Given the description of an element on the screen output the (x, y) to click on. 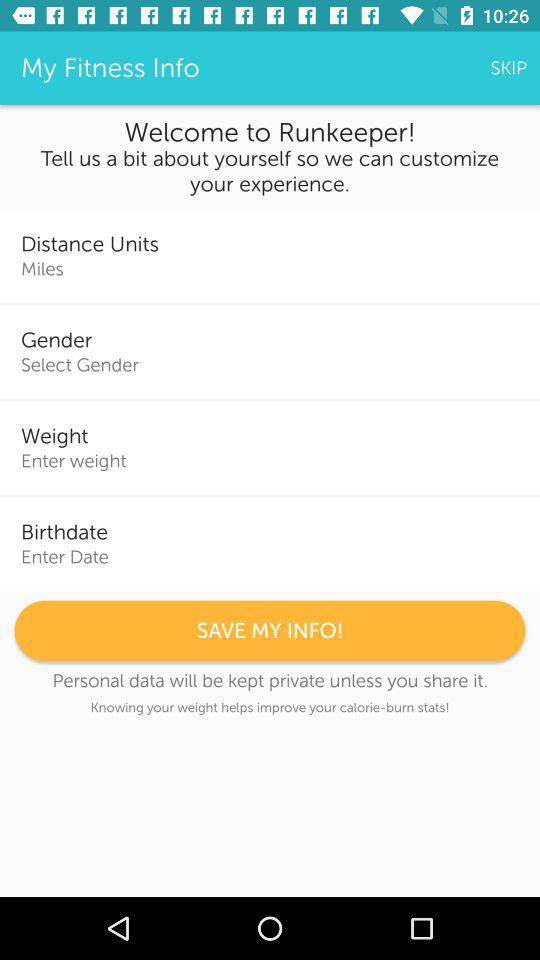
click the skip item (508, 67)
